Given the description of an element on the screen output the (x, y) to click on. 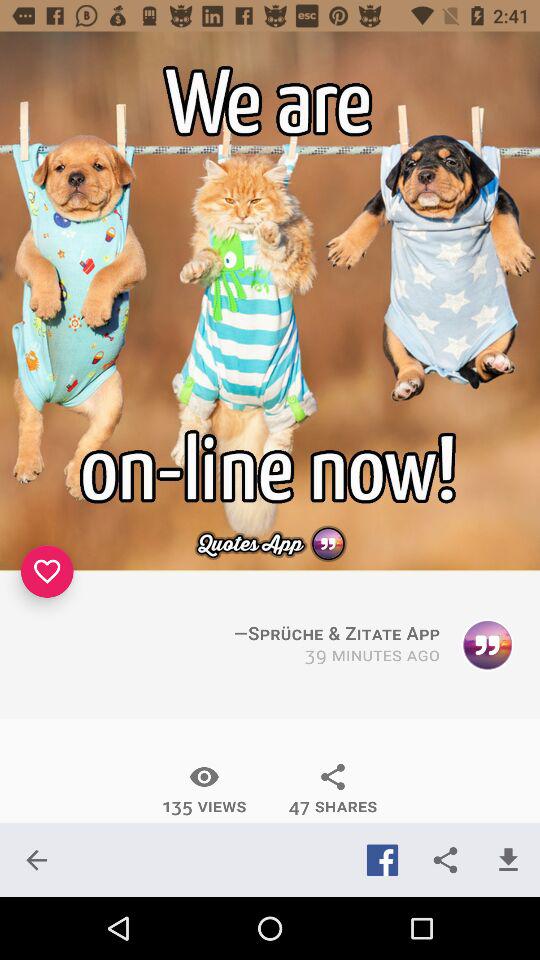
choose 135 views (204, 789)
